Given the description of an element on the screen output the (x, y) to click on. 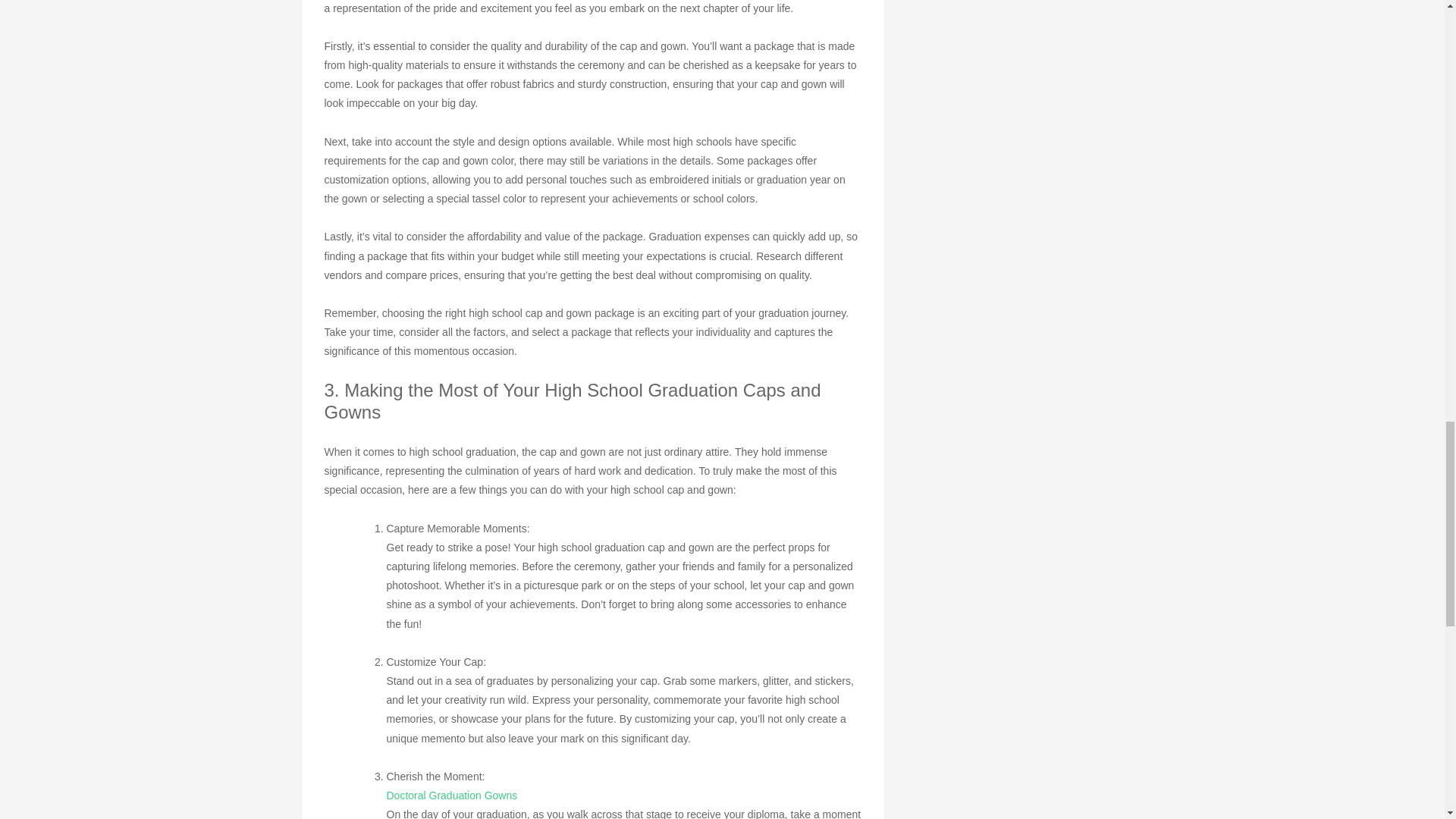
Doctoral Graduation Gowns (452, 795)
